Given the description of an element on the screen output the (x, y) to click on. 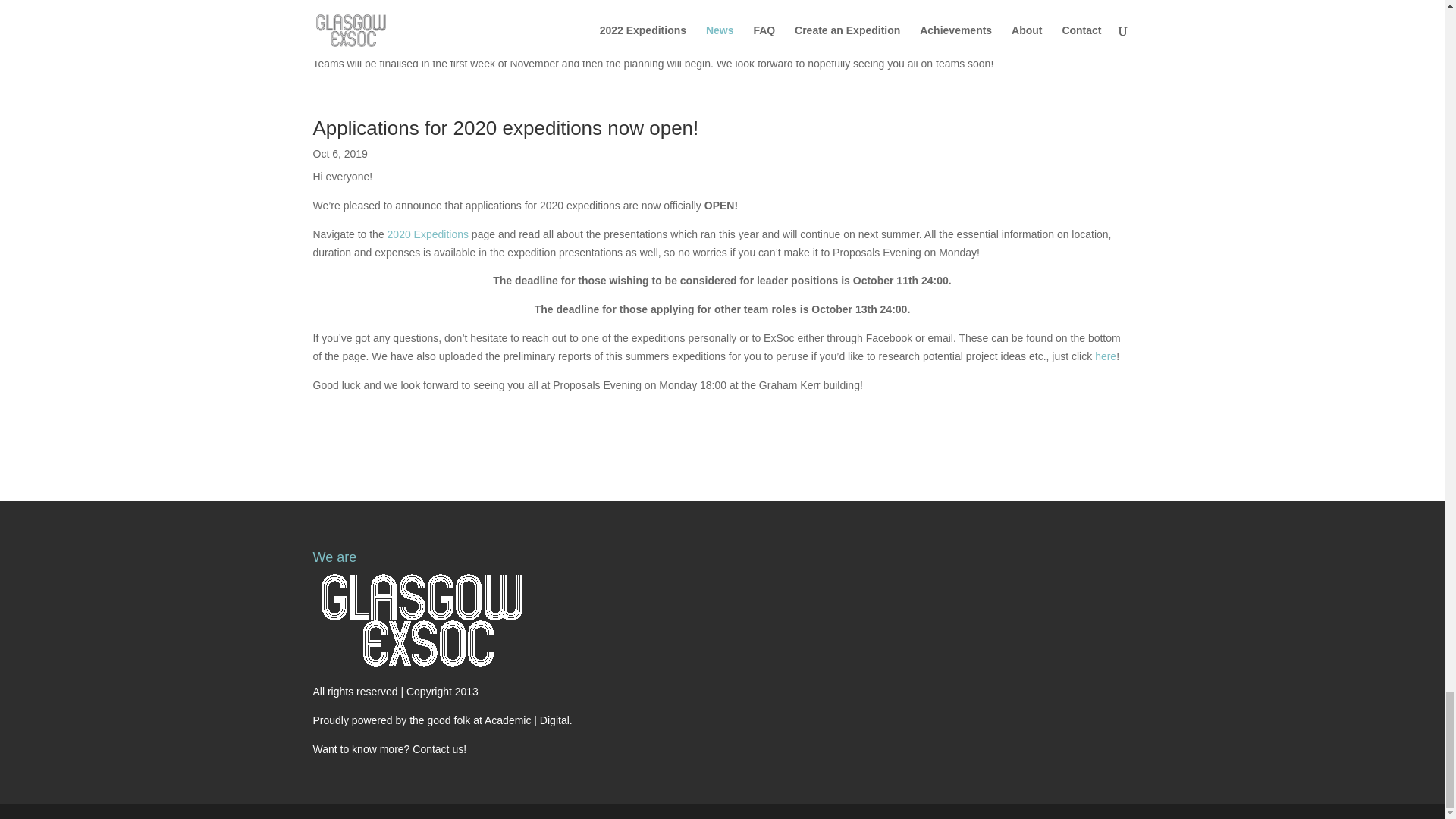
Contact us! (438, 748)
2020 Expeditions (427, 234)
Applications for 2020 expeditions now open! (505, 128)
here (1105, 356)
